Given the description of an element on the screen output the (x, y) to click on. 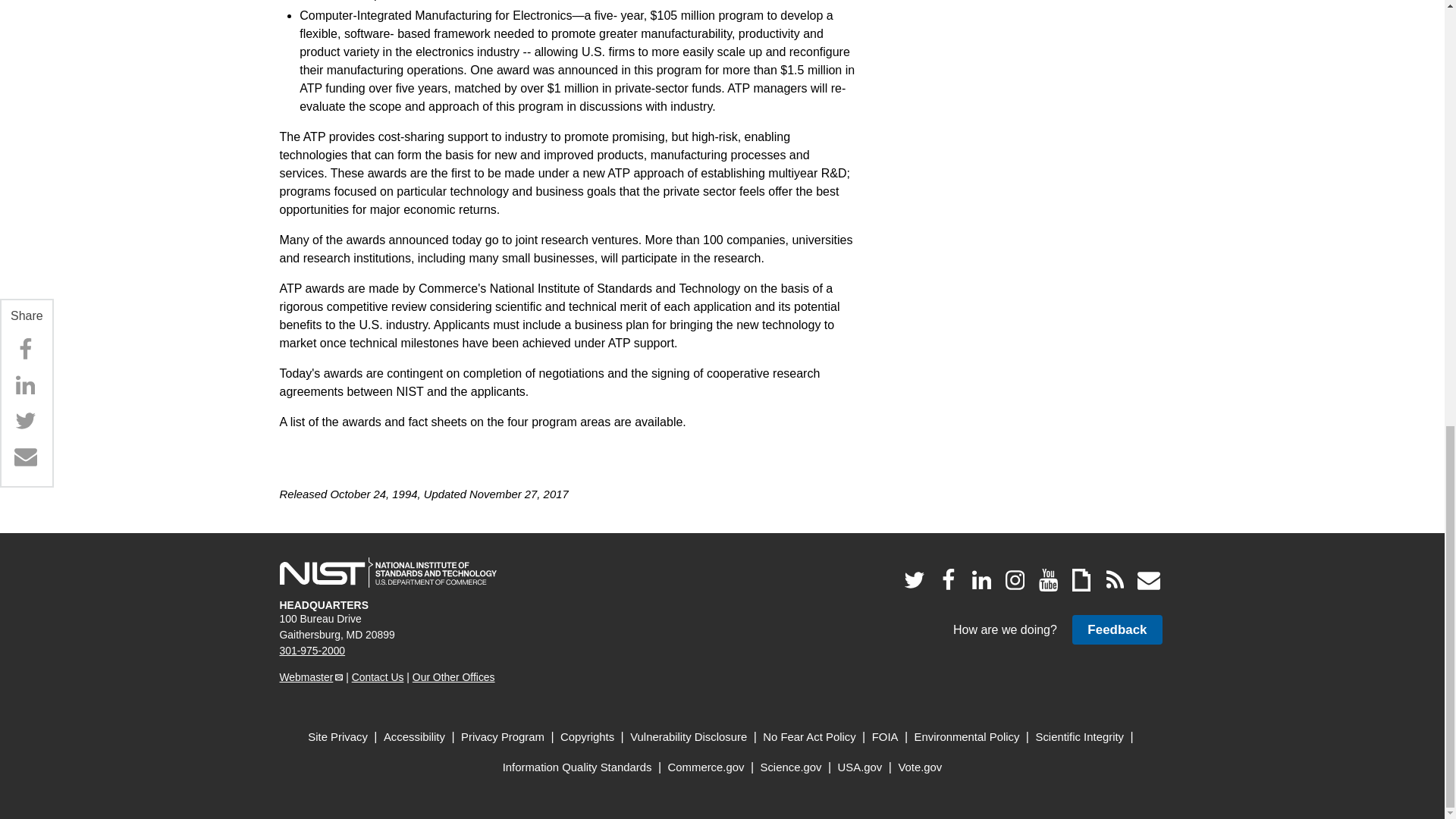
Accessibility (414, 736)
Site Privacy (337, 736)
Vulnerability Disclosure (688, 736)
Provide feedback (1116, 629)
Privacy Program (502, 736)
Contact Us (378, 676)
National Institute of Standards and Technology (387, 572)
301-975-2000 (312, 650)
Feedback (1116, 629)
FOIA (885, 736)
